Given the description of an element on the screen output the (x, y) to click on. 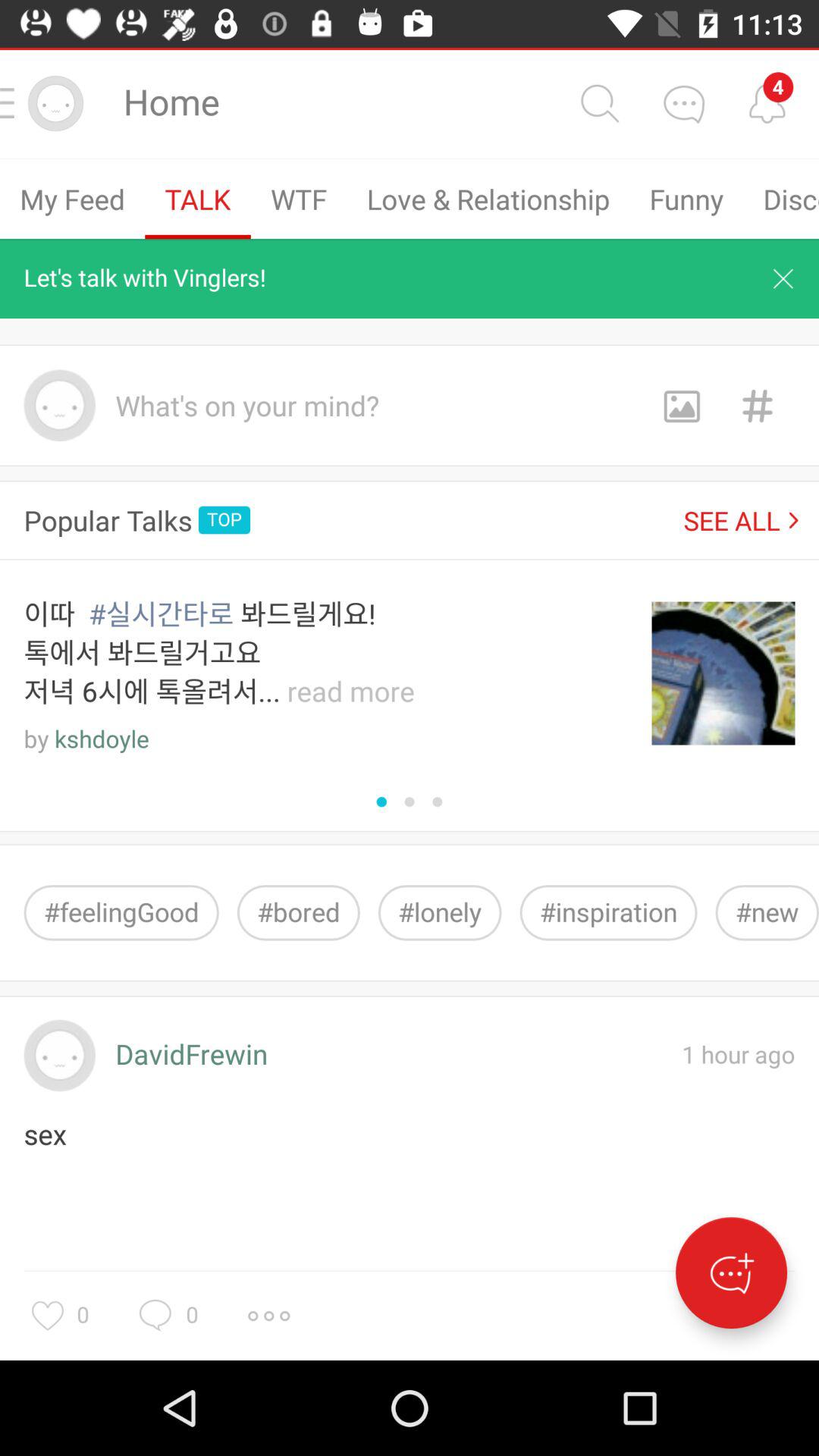
draft new message (731, 1272)
